Given the description of an element on the screen output the (x, y) to click on. 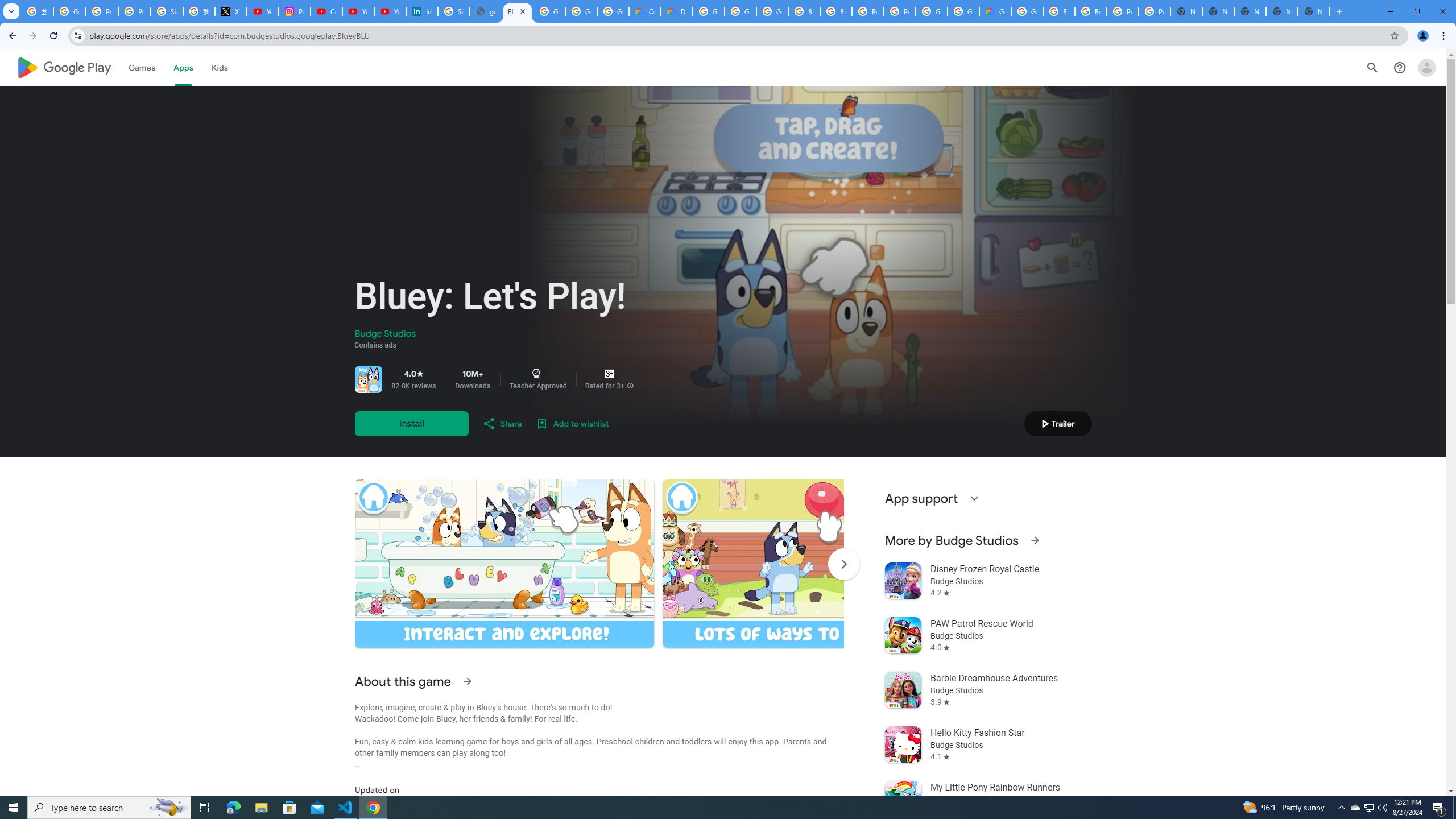
Expand (973, 497)
YouTube Culture & Trends - YouTube Top 10, 2021 (389, 11)
Add to wishlist (571, 422)
Google Cloud Platform (931, 11)
Google Cloud Platform (708, 11)
